Given the description of an element on the screen output the (x, y) to click on. 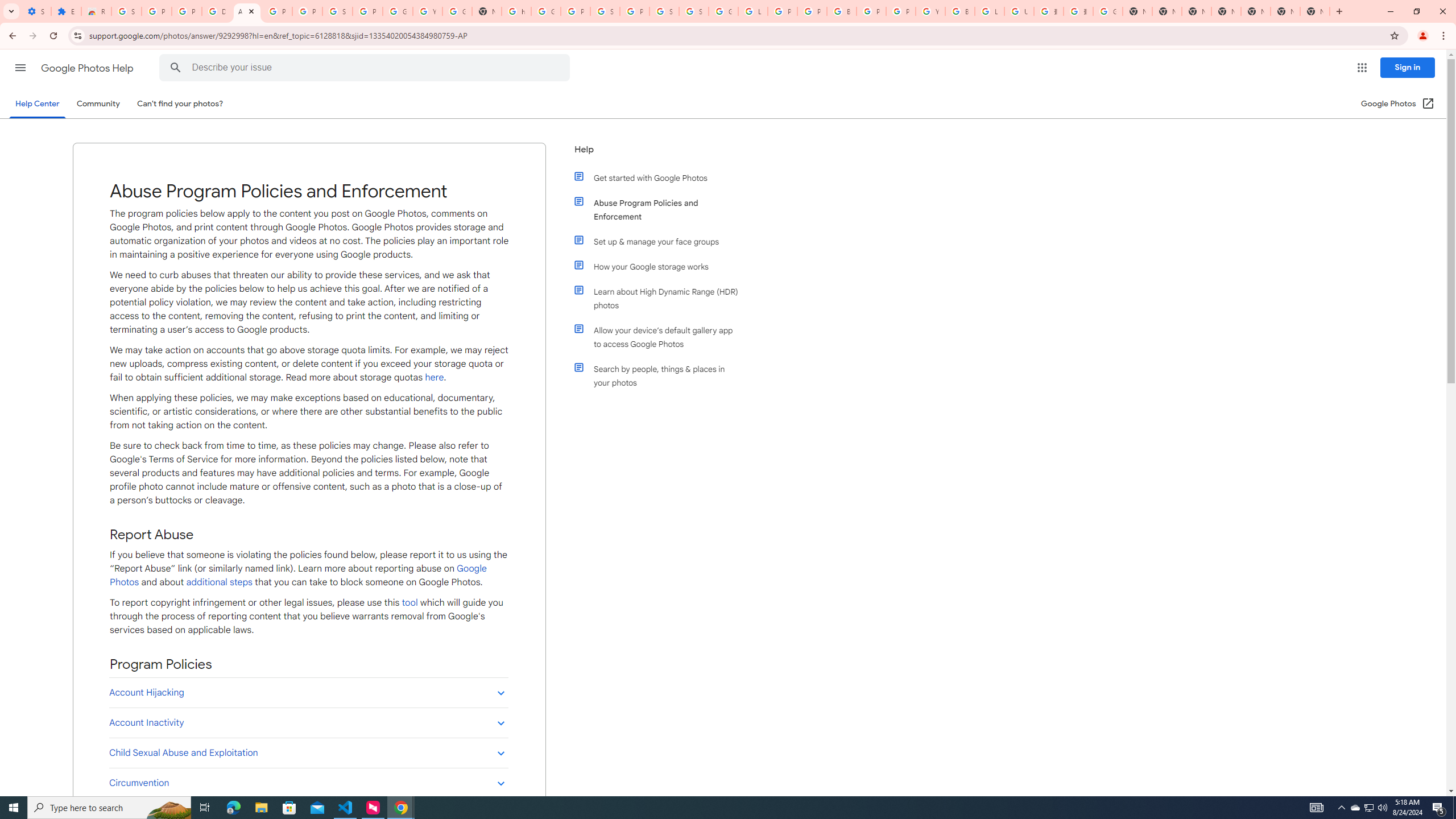
Privacy Help Center - Policies Help (782, 11)
Search Help Center (176, 67)
Sign in - Google Accounts (337, 11)
Search by people, things & places in your photos (661, 375)
Google Photos (Open in a new window) (1397, 103)
Account Inactivity (308, 722)
Sign in (1407, 67)
Describe your issue (366, 67)
Help Center (36, 103)
Google Photos Help (87, 68)
Learn about High Dynamic Range (HDR) photos (661, 298)
